Given the description of an element on the screen output the (x, y) to click on. 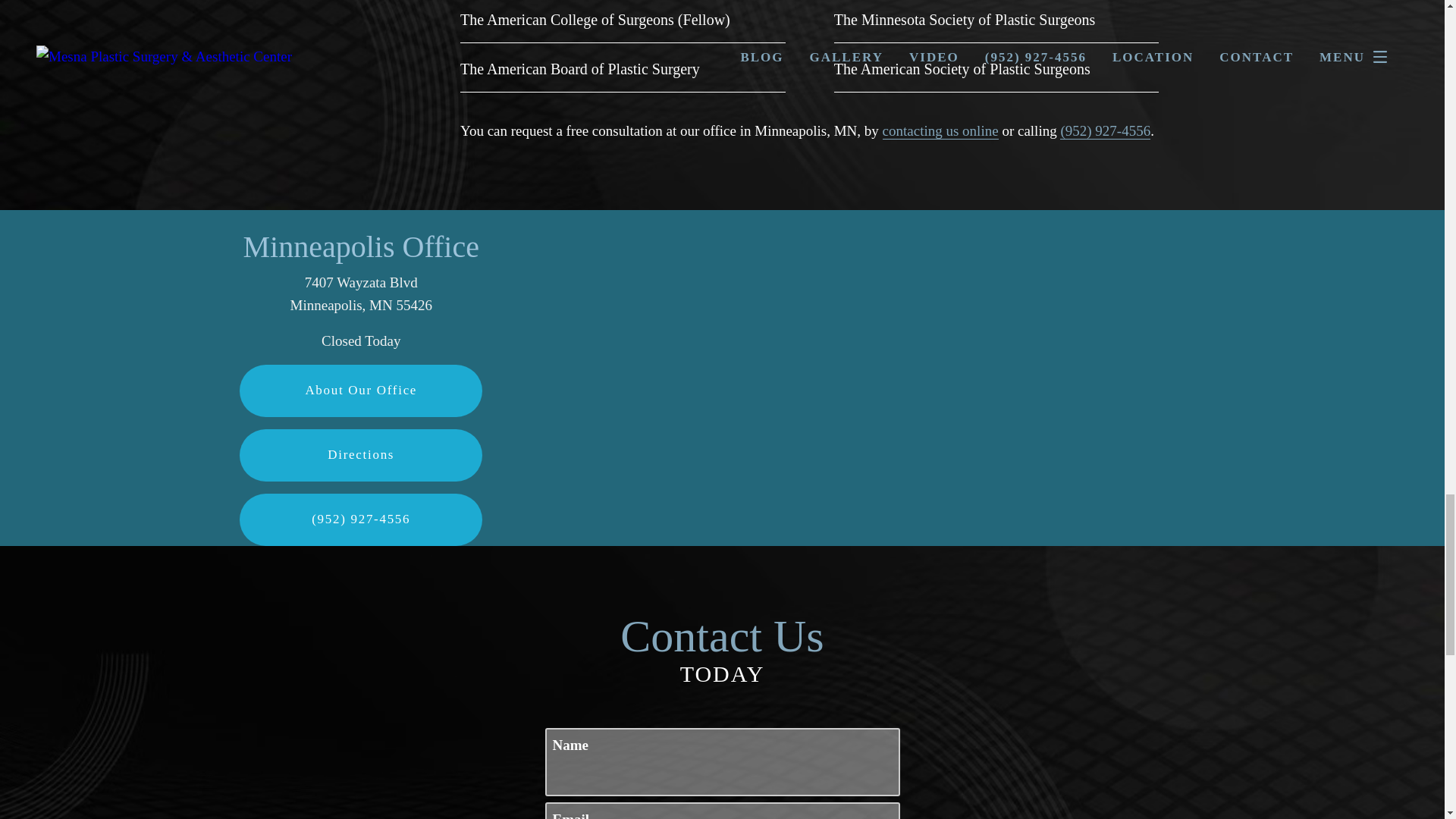
Locations (1003, 220)
contacting us online (940, 130)
Directions (360, 455)
About Our Office (360, 390)
Minneapolis Office (361, 246)
